Given the description of an element on the screen output the (x, y) to click on. 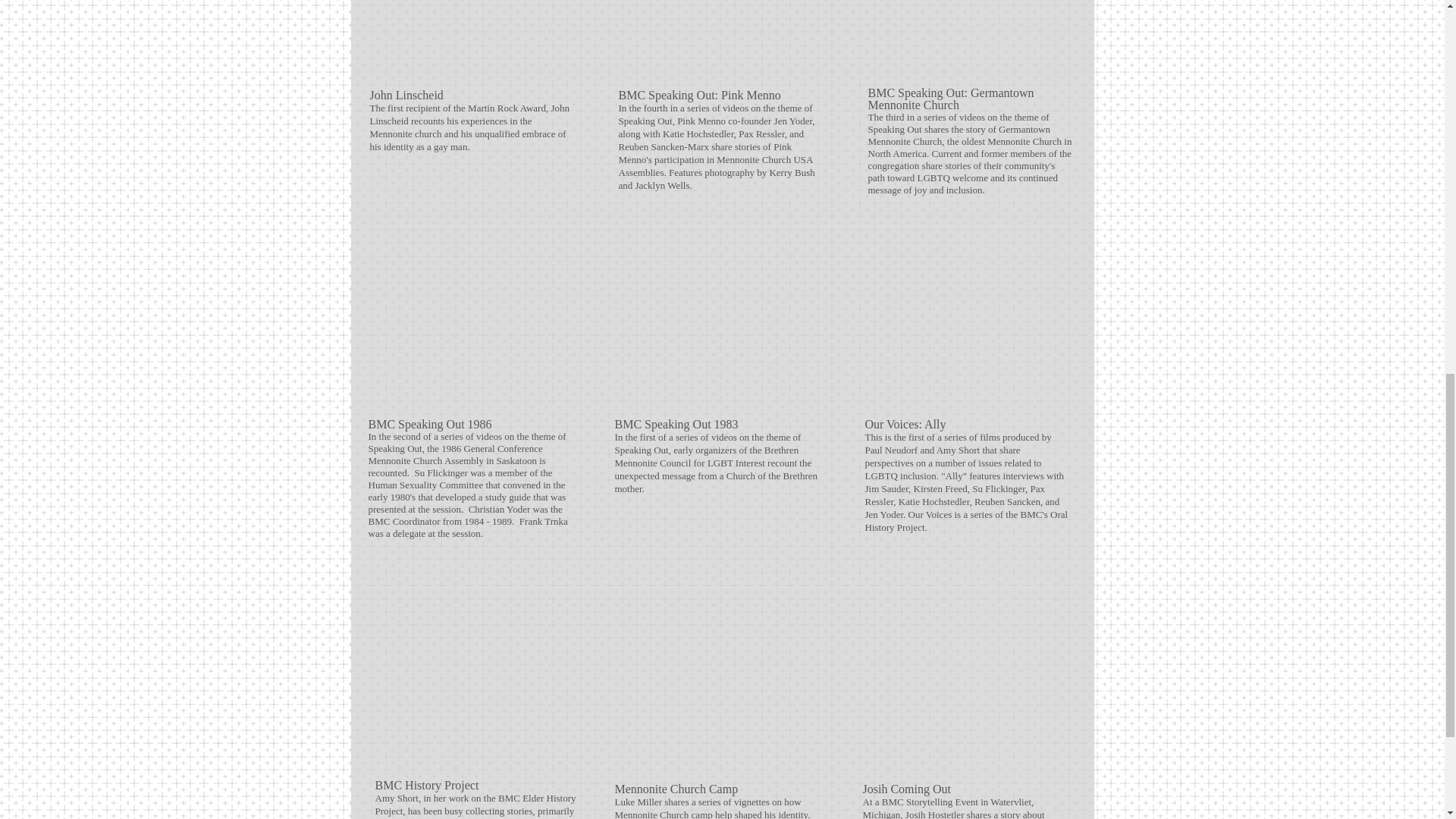
External YouTube (967, 327)
External YouTube (717, 327)
External YouTube (471, 327)
External YouTube (721, 41)
External YouTube (964, 689)
External YouTube (969, 40)
External YouTube (475, 689)
External YouTube (472, 41)
External YouTube (717, 689)
